Given the description of an element on the screen output the (x, y) to click on. 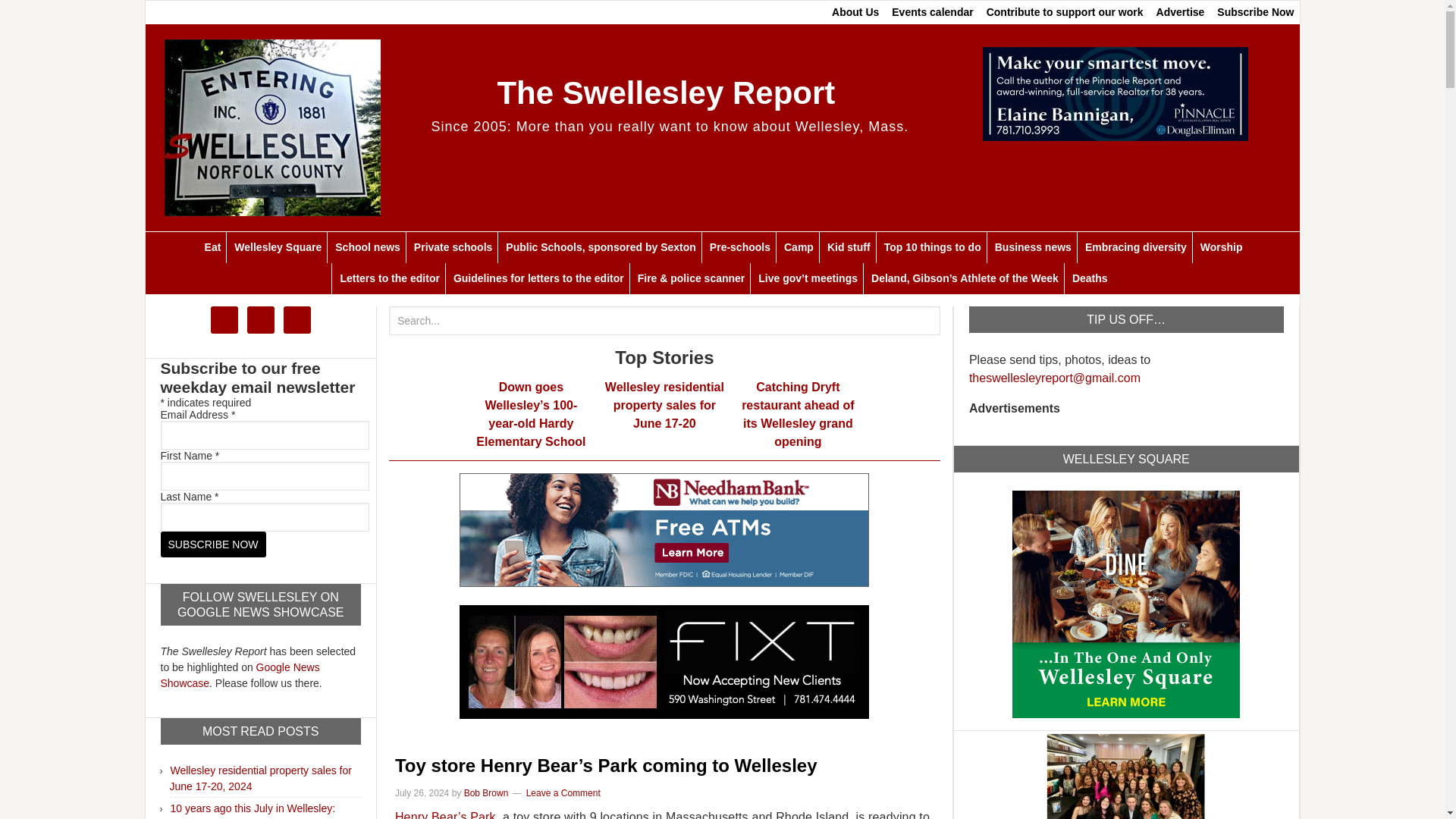
Events calendar (931, 12)
Bob Brown (486, 792)
Camp (798, 246)
Embracing diversity (1135, 246)
Subscribe Now (213, 544)
Business news (1032, 246)
Letters to the editor (388, 278)
School news (366, 246)
Pre-schools (739, 246)
Deaths (1089, 278)
Private schools (453, 246)
Eat (212, 246)
